Given the description of an element on the screen output the (x, y) to click on. 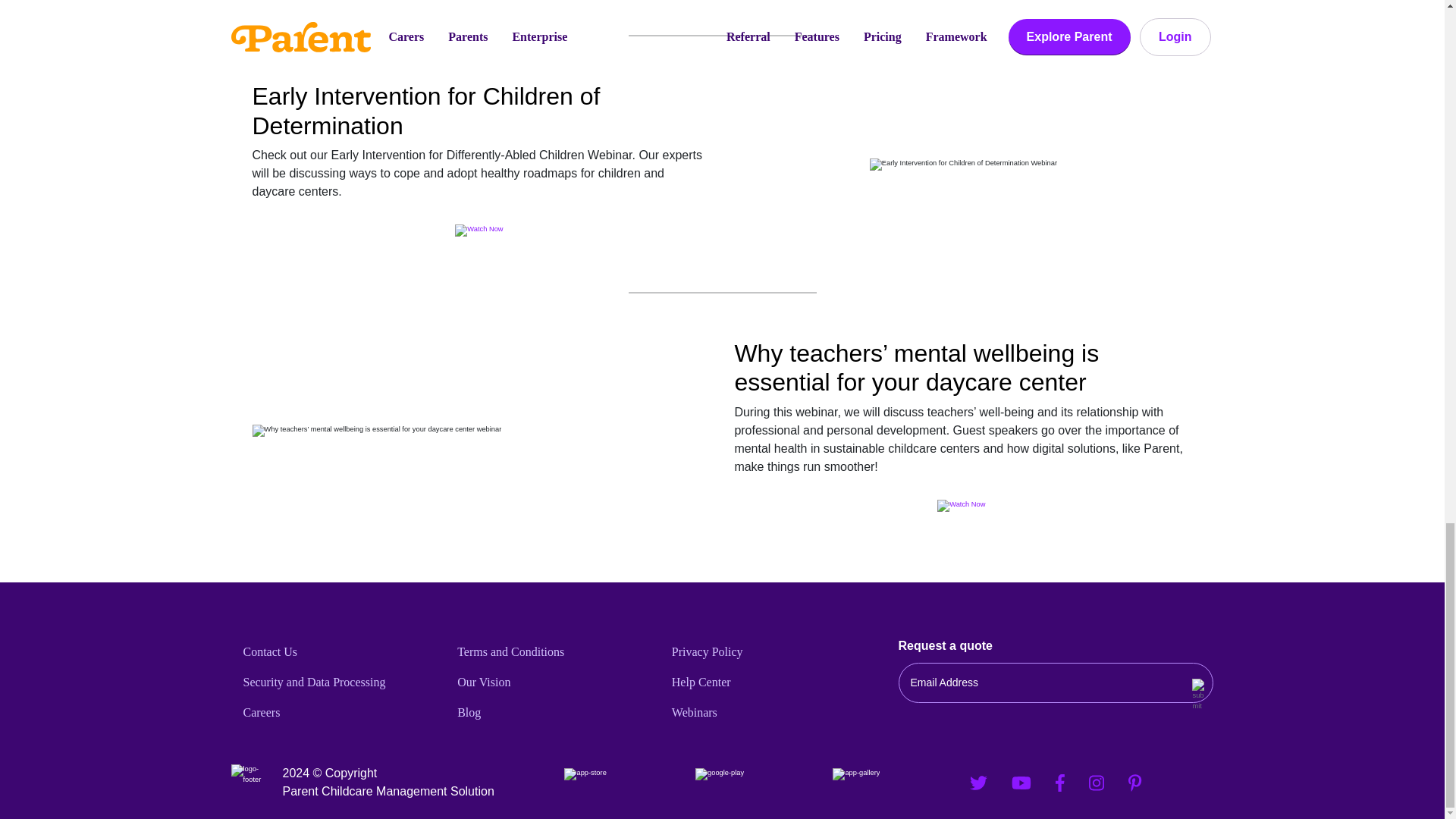
Security and Data Processing (344, 682)
Our Vision (558, 682)
Terms and Conditions (558, 652)
Blog (558, 712)
Webinars (773, 712)
Follow us on Facebook (1059, 781)
Privacy Policy (773, 652)
Follow us on Facebook (1059, 782)
Follow us on Facebook (1020, 781)
Contact Us (344, 652)
Follow us on Facebook (1020, 782)
Follow us on Instagram (1096, 782)
Follow us on Twitter (978, 782)
Follow us on Twitter (978, 781)
Early Intervention for Children of Determination Webinar (963, 164)
